Given the description of an element on the screen output the (x, y) to click on. 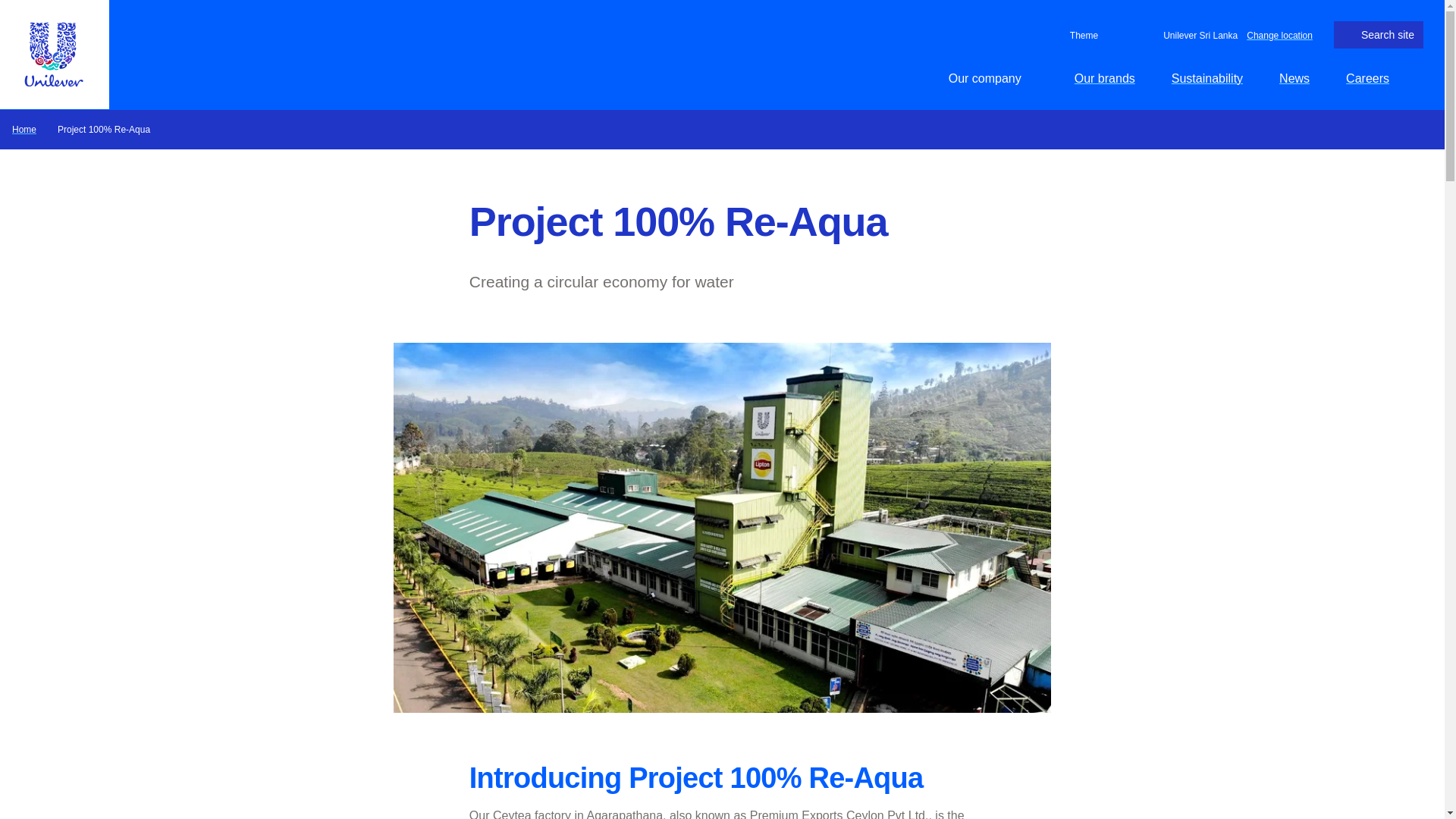
Home (23, 129)
Change location (1279, 34)
Search site (1378, 34)
Sustainability (1206, 78)
News (1294, 78)
Our company (992, 78)
Our brands (1104, 78)
Theme (1081, 35)
